Given the description of an element on the screen output the (x, y) to click on. 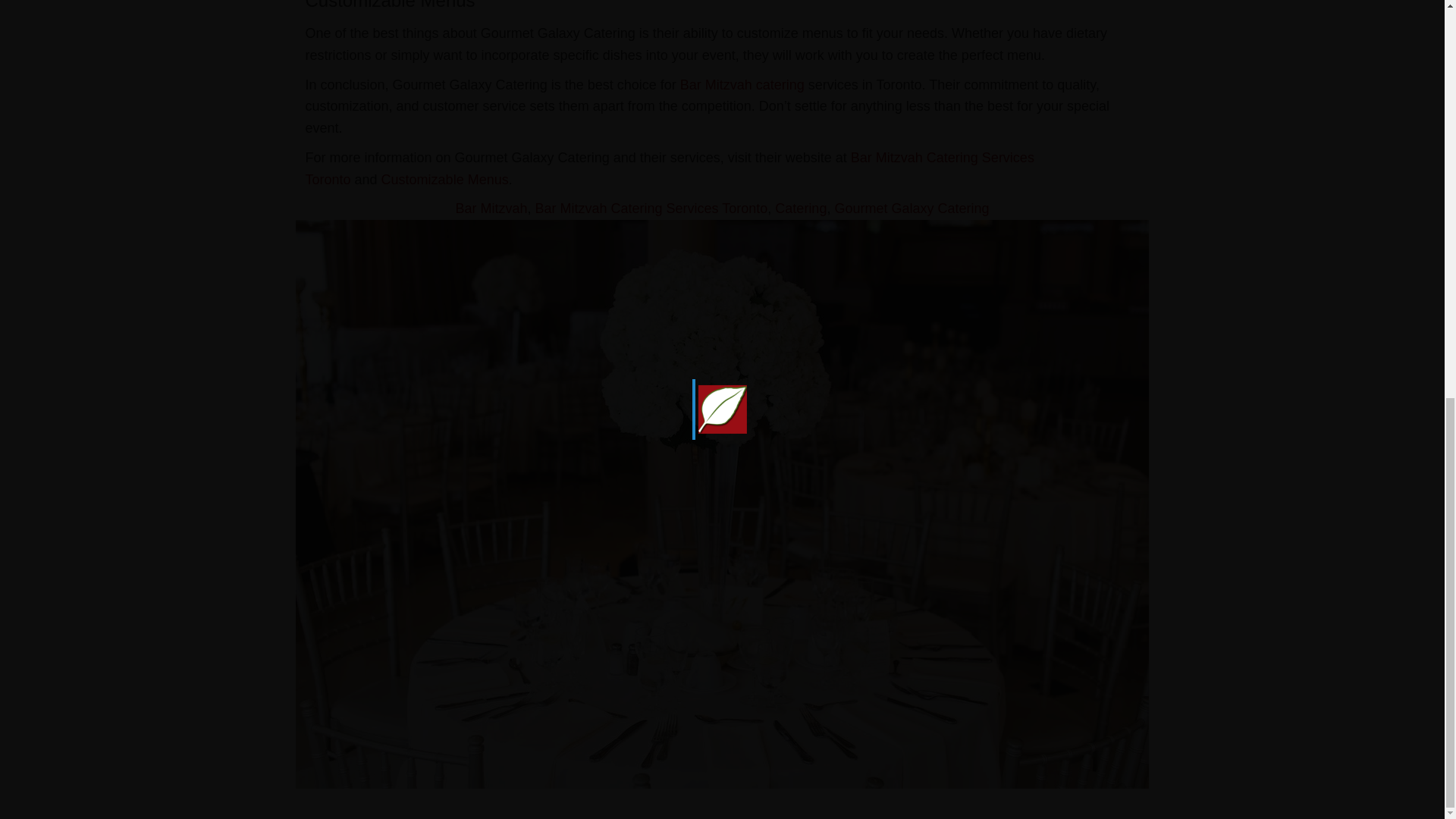
Catering (800, 208)
Customizable Menus (444, 179)
Bar Mitzvah Catering Services Toronto (651, 208)
Bar Mitzvah (490, 208)
Gourmet Galaxy Catering (911, 208)
bar mitzvah catering (742, 84)
Bar Mitzvah Catering Services Toronto (668, 168)
Bar Mitzvah catering (742, 84)
